Given the description of an element on the screen output the (x, y) to click on. 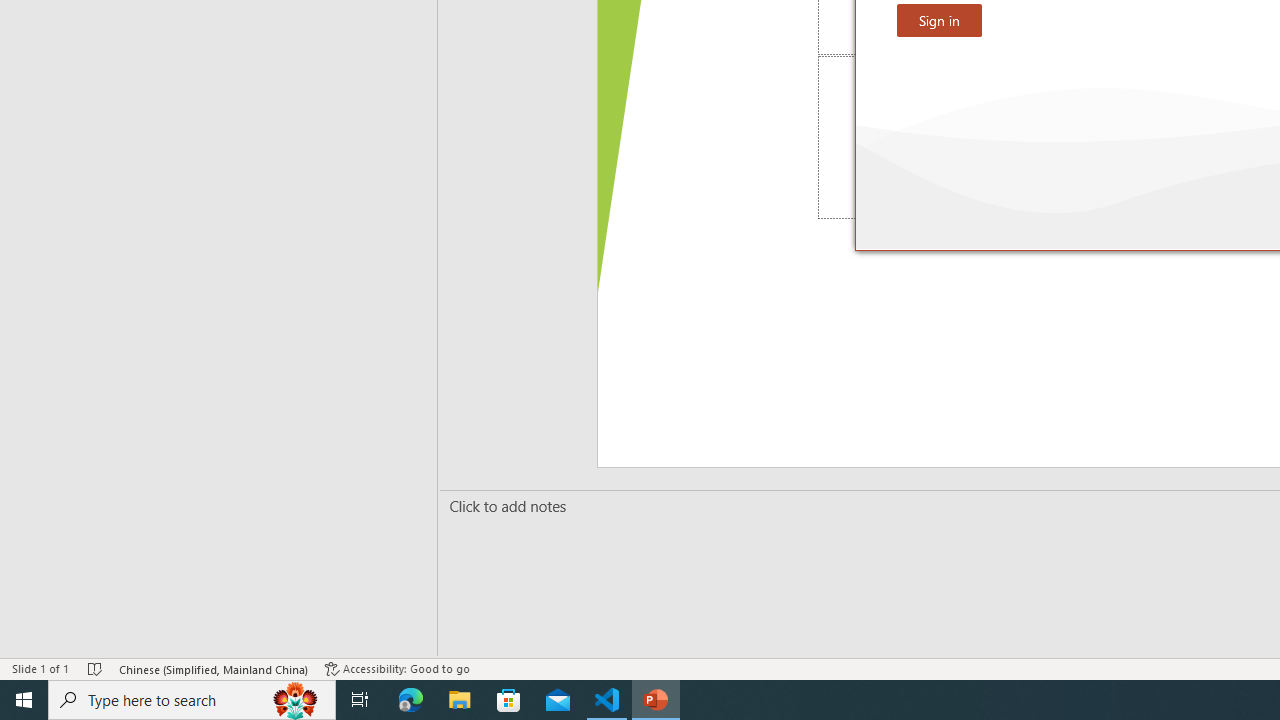
Accessibility Checker Accessibility: Good to go (397, 668)
Microsoft Edge (411, 699)
Sign in (939, 20)
